Given the description of an element on the screen output the (x, y) to click on. 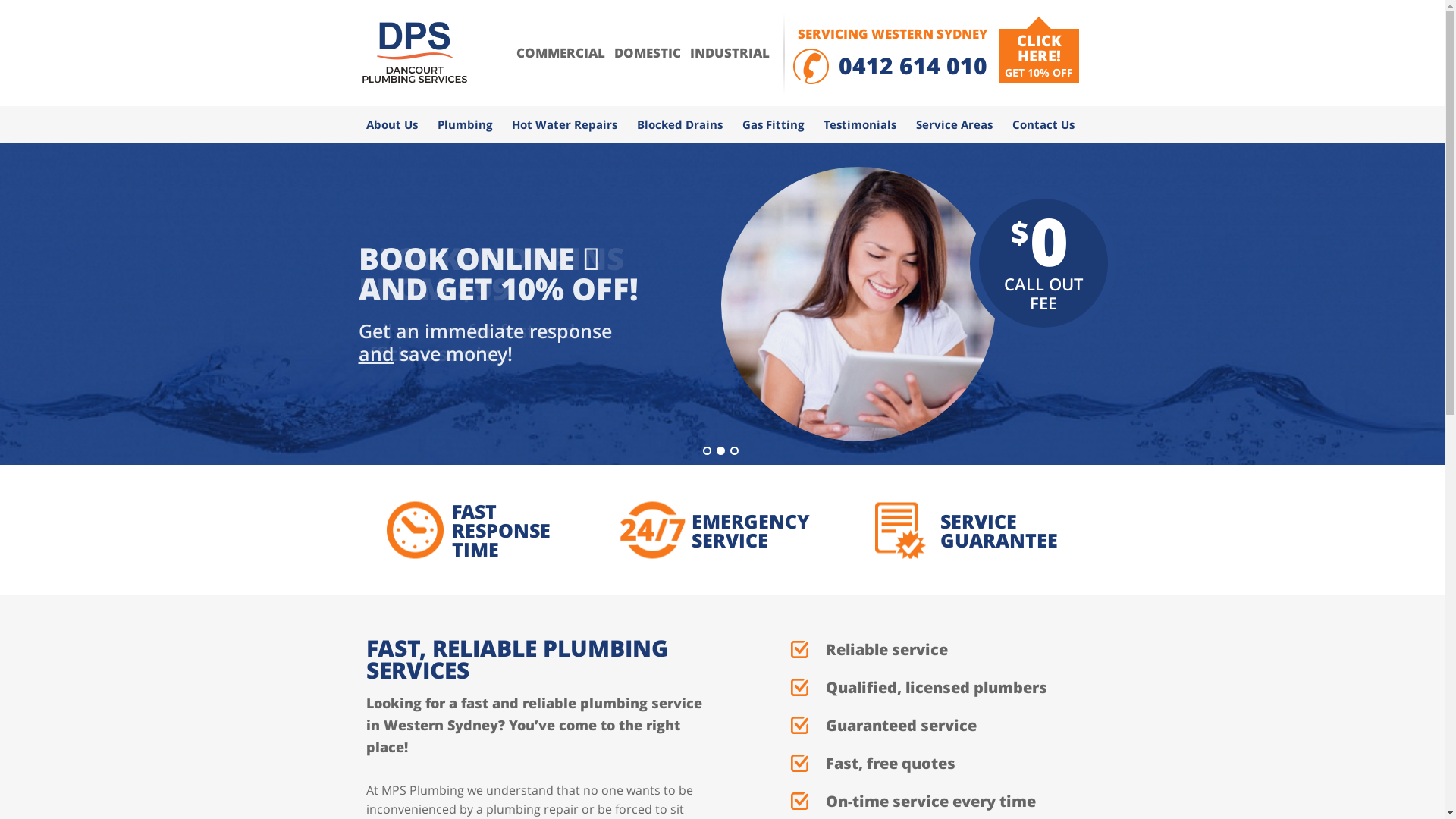
Testimonials Element type: text (858, 124)
2 Element type: text (719, 450)
Gas Fitting Element type: text (772, 124)
Blocked Drains Element type: text (678, 124)
1 Element type: text (706, 450)
Hot Water Repairs Element type: text (564, 124)
0412 614 010 Element type: text (912, 65)
Service Areas Element type: text (953, 124)
3 Element type: text (733, 450)
About Us Element type: text (391, 124)
Contact Us Element type: text (1043, 124)
CLICK
HERE!
GET 10% OFF Element type: text (1039, 55)
Plumbing Element type: text (464, 124)
